Given the description of an element on the screen output the (x, y) to click on. 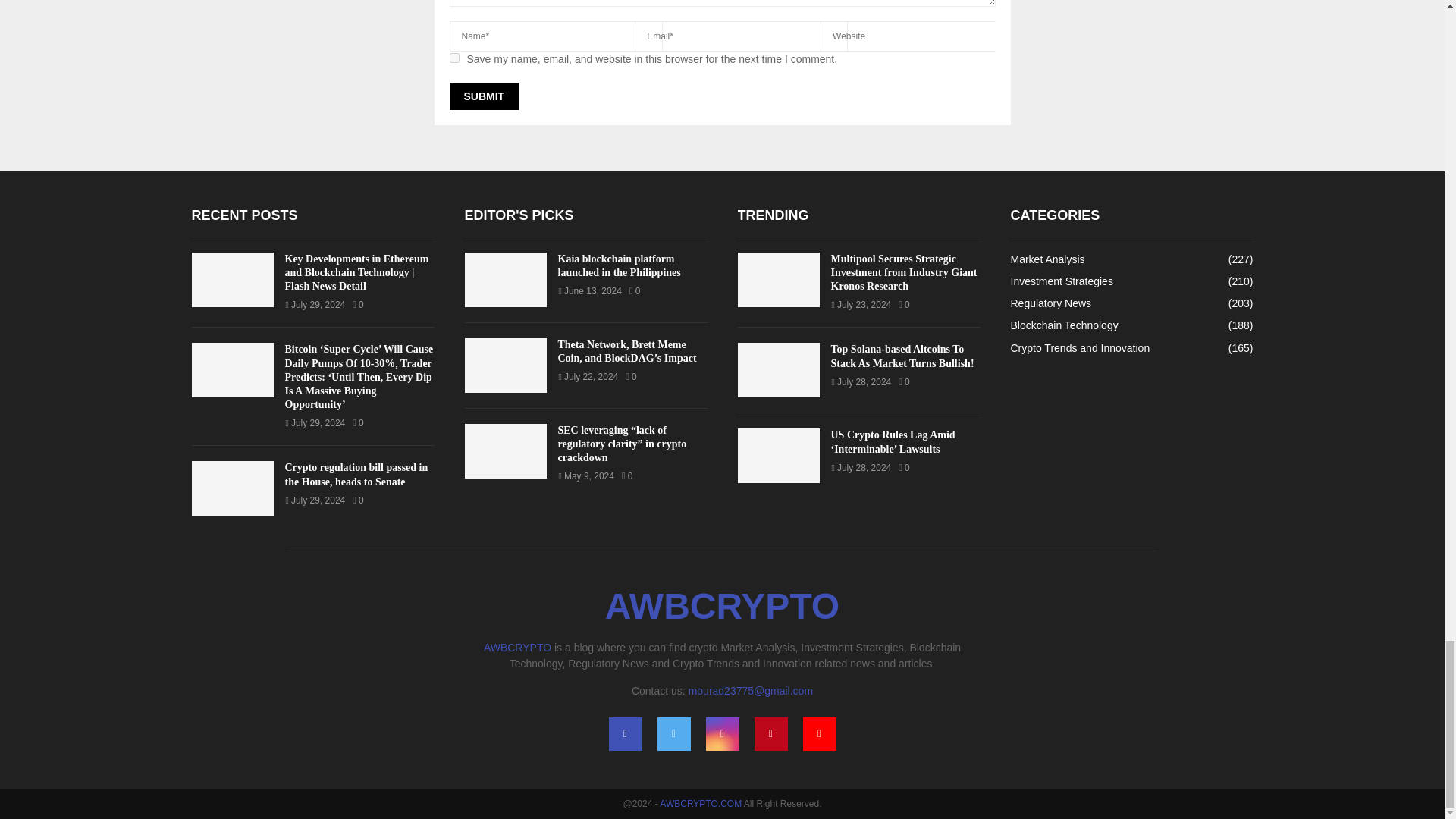
Submit (483, 95)
yes (453, 58)
